Given the description of an element on the screen output the (x, y) to click on. 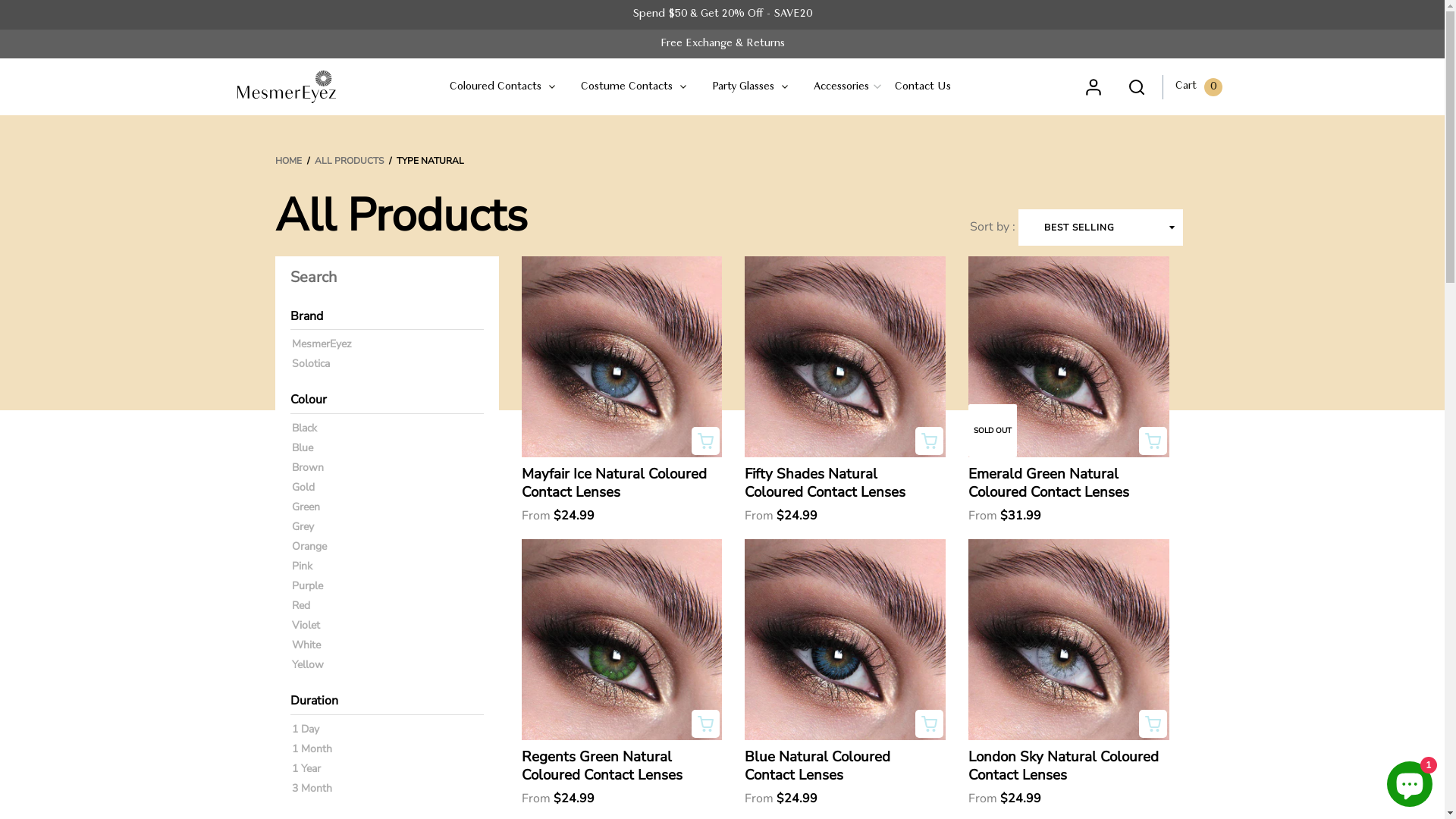
HOME Element type: text (287, 160)
Mayfair Ice Natural Coloured Contact Lenses Element type: text (616, 483)
Party Glasses Element type: text (751, 87)
Violet Element type: text (304, 625)
MesmerEyez Element type: text (320, 343)
Blue Element type: text (301, 447)
Accessories Element type: text (842, 87)
Pink Element type: text (301, 565)
Shopify online store chat Element type: hover (1409, 780)
ALL PRODUCTS Element type: text (347, 160)
Coloured Contacts Element type: text (507, 87)
Gold Element type: text (302, 486)
Free Exchange & Returns Element type: text (722, 43)
Green Element type: text (304, 506)
Yellow Element type: text (306, 664)
Emerald Green Natural Coloured Contact Lenses Element type: text (1063, 483)
Fifty Shades Natural Coloured Contact Lenses Element type: text (839, 483)
Orange Element type: text (308, 546)
White Element type: text (305, 644)
1 Day Element type: text (304, 728)
Red Element type: text (299, 605)
Grey Element type: text (301, 526)
1 Year Element type: text (305, 768)
Solotica Element type: text (309, 363)
Costume Contacts Element type: text (634, 87)
1 Month Element type: text (310, 748)
London Sky Natural Coloured Contact Lenses Element type: text (1063, 765)
Black Element type: text (303, 427)
Regents Green Natural Coloured Contact Lenses Element type: text (616, 765)
Contact Us Element type: text (923, 87)
Brown Element type: text (306, 467)
SOLD OUT Element type: text (1068, 356)
3 Month Element type: text (310, 788)
Purple Element type: text (306, 585)
Blue Natural Coloured Contact Lenses Element type: text (839, 765)
